Given the description of an element on the screen output the (x, y) to click on. 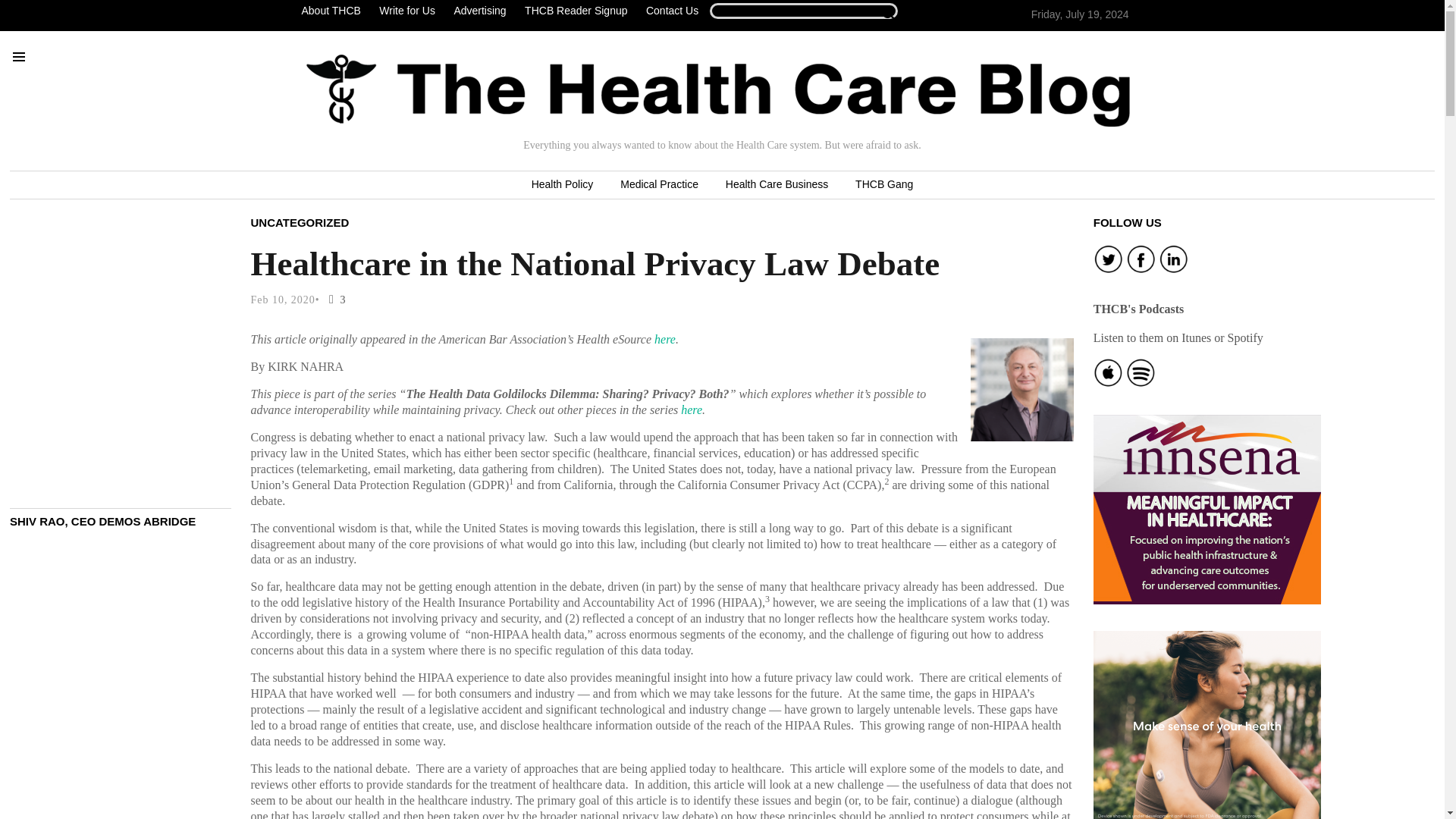
Home (718, 90)
Health Policy (562, 184)
here (664, 338)
Medical Practice (659, 184)
THCB Reader Signup (575, 10)
Contact Us (672, 10)
Write for Us (406, 10)
UNCATEGORIZED (299, 221)
About THCB (334, 10)
3 (334, 299)
THCB Gang (883, 184)
here (691, 409)
Health Care Business (776, 184)
Advertising (479, 10)
